Given the description of an element on the screen output the (x, y) to click on. 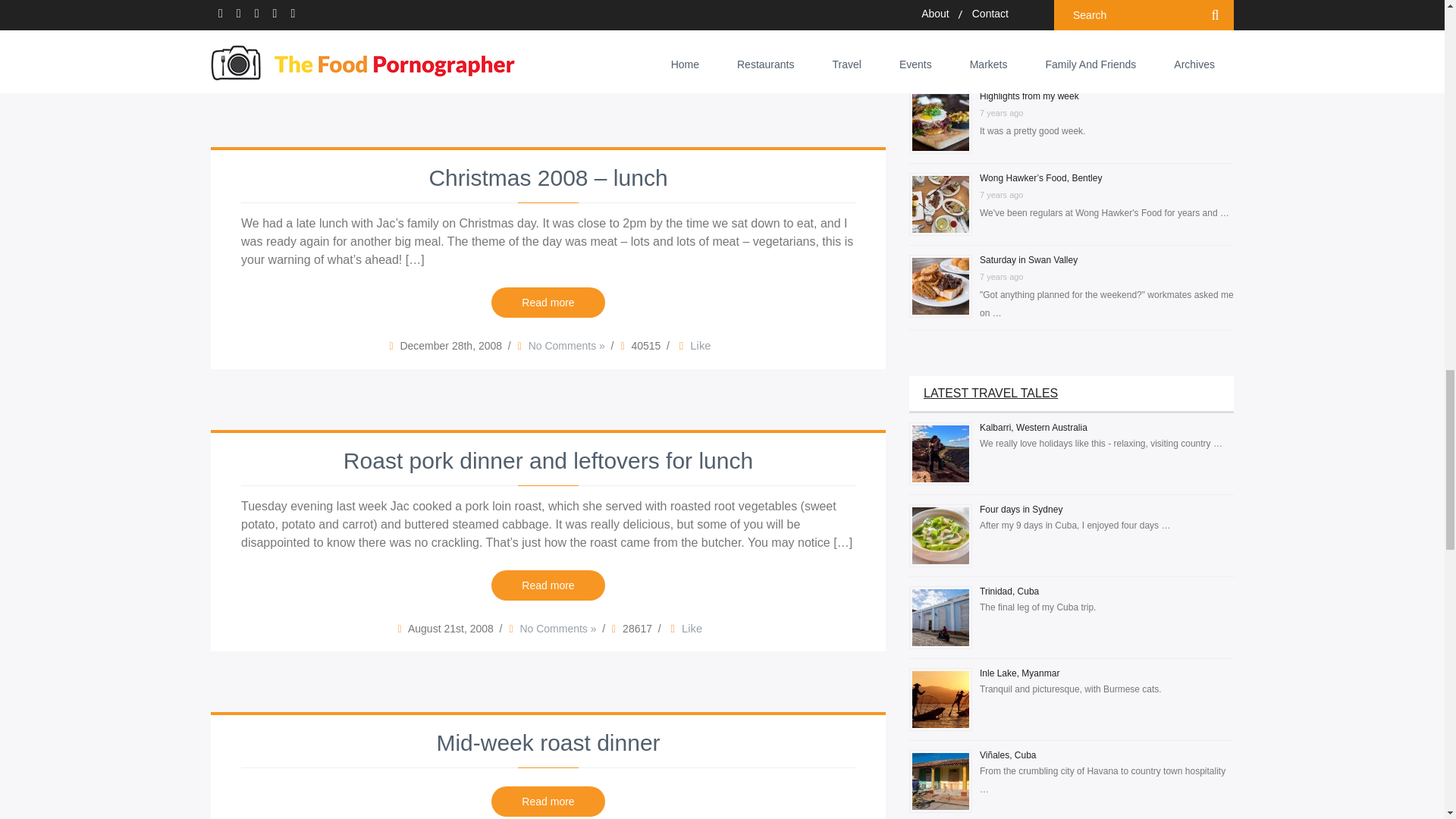
Permanent Link to Roast pork dinner and leftovers for lunch (547, 461)
Permanent Link to Mid-week roast dinner (547, 743)
Like (693, 345)
Like (688, 64)
Read more (548, 20)
 Like (688, 64)
Like (684, 629)
